Given the description of an element on the screen output the (x, y) to click on. 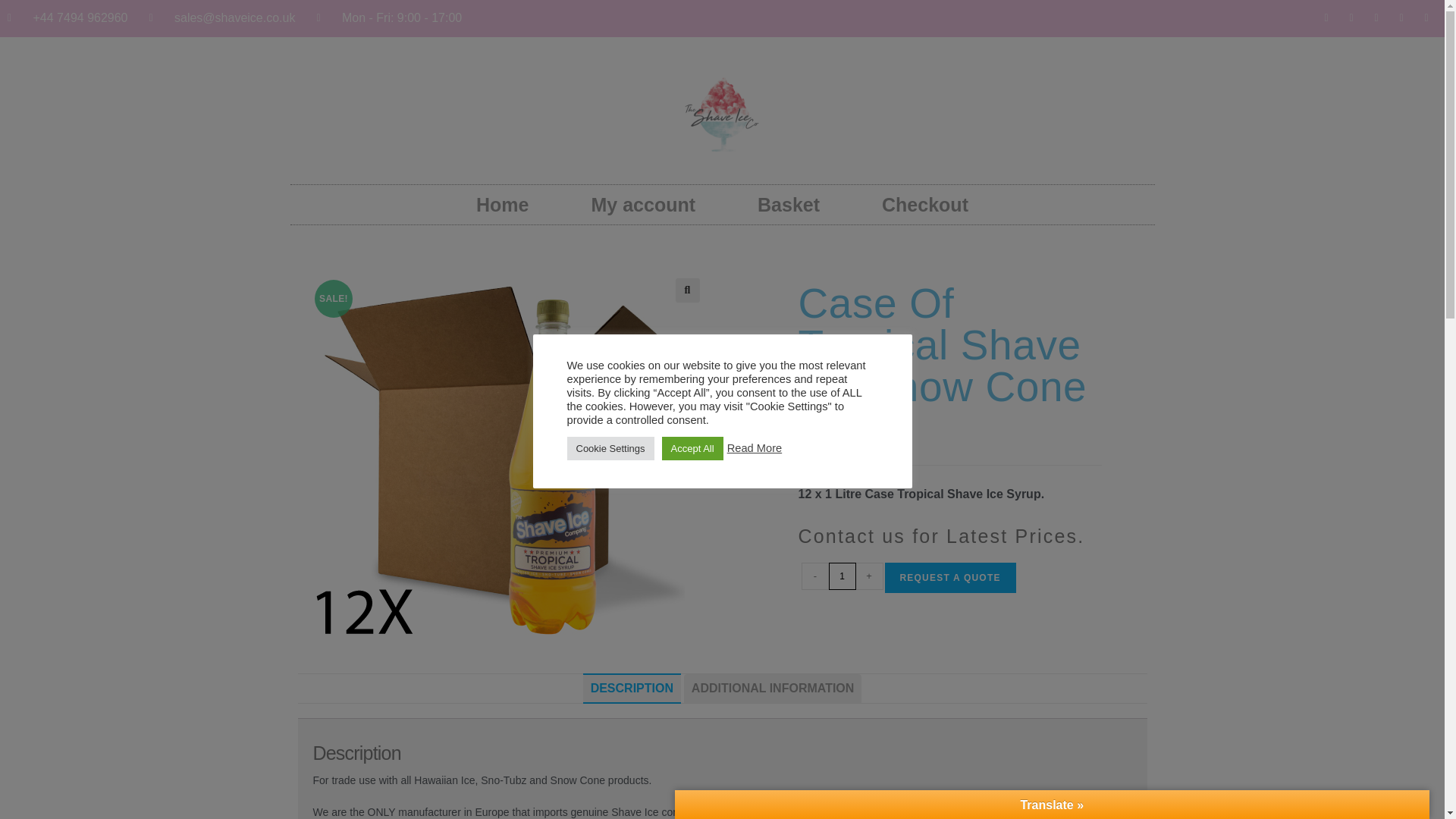
Checkout (924, 204)
Basket (788, 204)
- (814, 575)
REQUEST A QUOTE (948, 577)
Home (502, 204)
1 (842, 575)
My account (643, 204)
2386 (1095, 24)
DESCRIPTION (632, 688)
ADDITIONAL INFORMATION (772, 688)
